Given the description of an element on the screen output the (x, y) to click on. 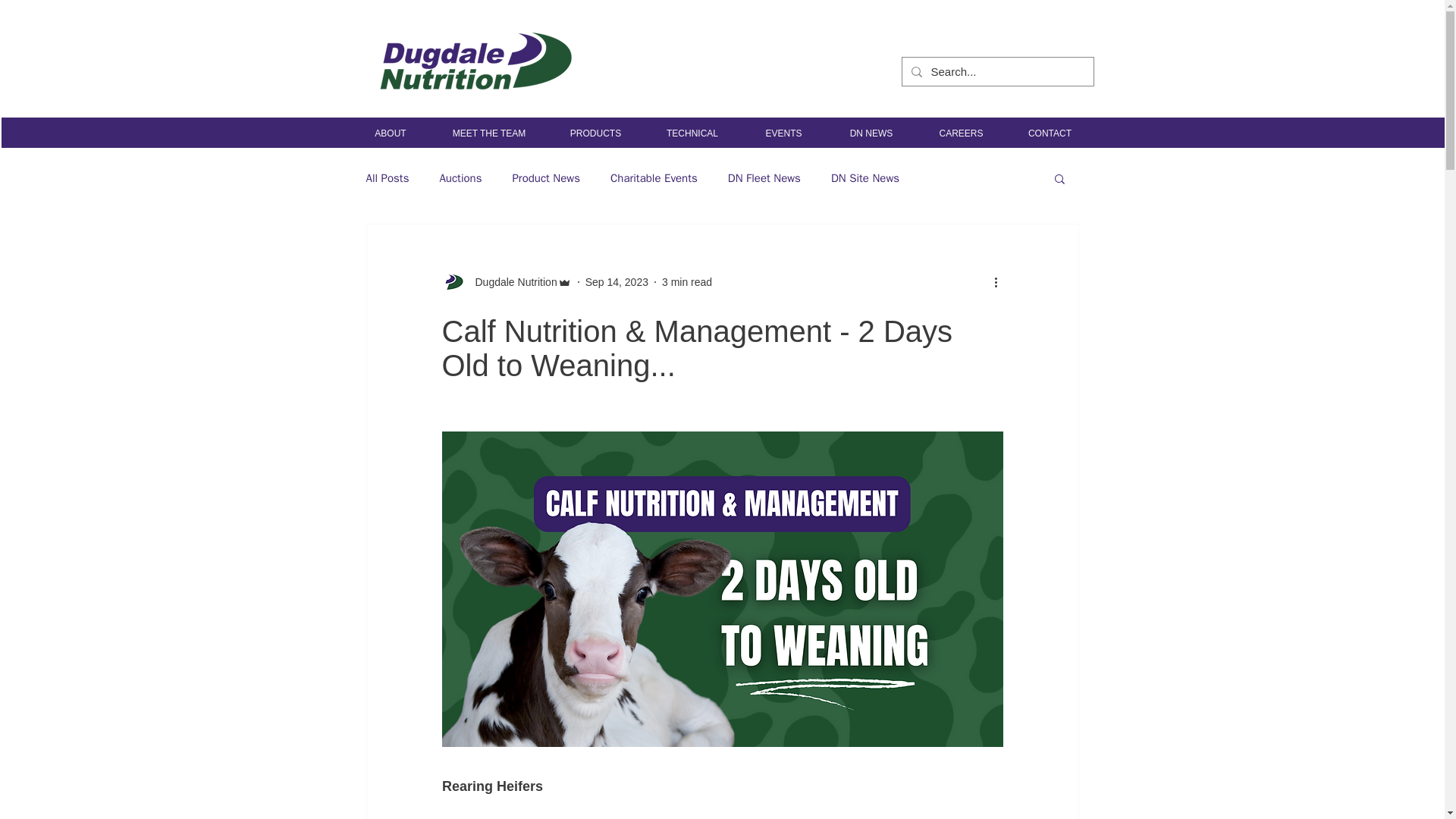
PRODUCTS (595, 133)
MEET THE TEAM (489, 133)
DN Fleet News (764, 178)
Dugdale Nutrition (505, 282)
TECHNICAL (692, 133)
Dugdale Nutrition (510, 282)
Charitable Events (653, 178)
CONTACT (1049, 133)
3 min read (686, 282)
DN Site News (865, 178)
CAREERS (960, 133)
ABOUT (389, 133)
All Posts (387, 178)
EVENTS (784, 133)
Sep 14, 2023 (616, 282)
